Given the description of an element on the screen output the (x, y) to click on. 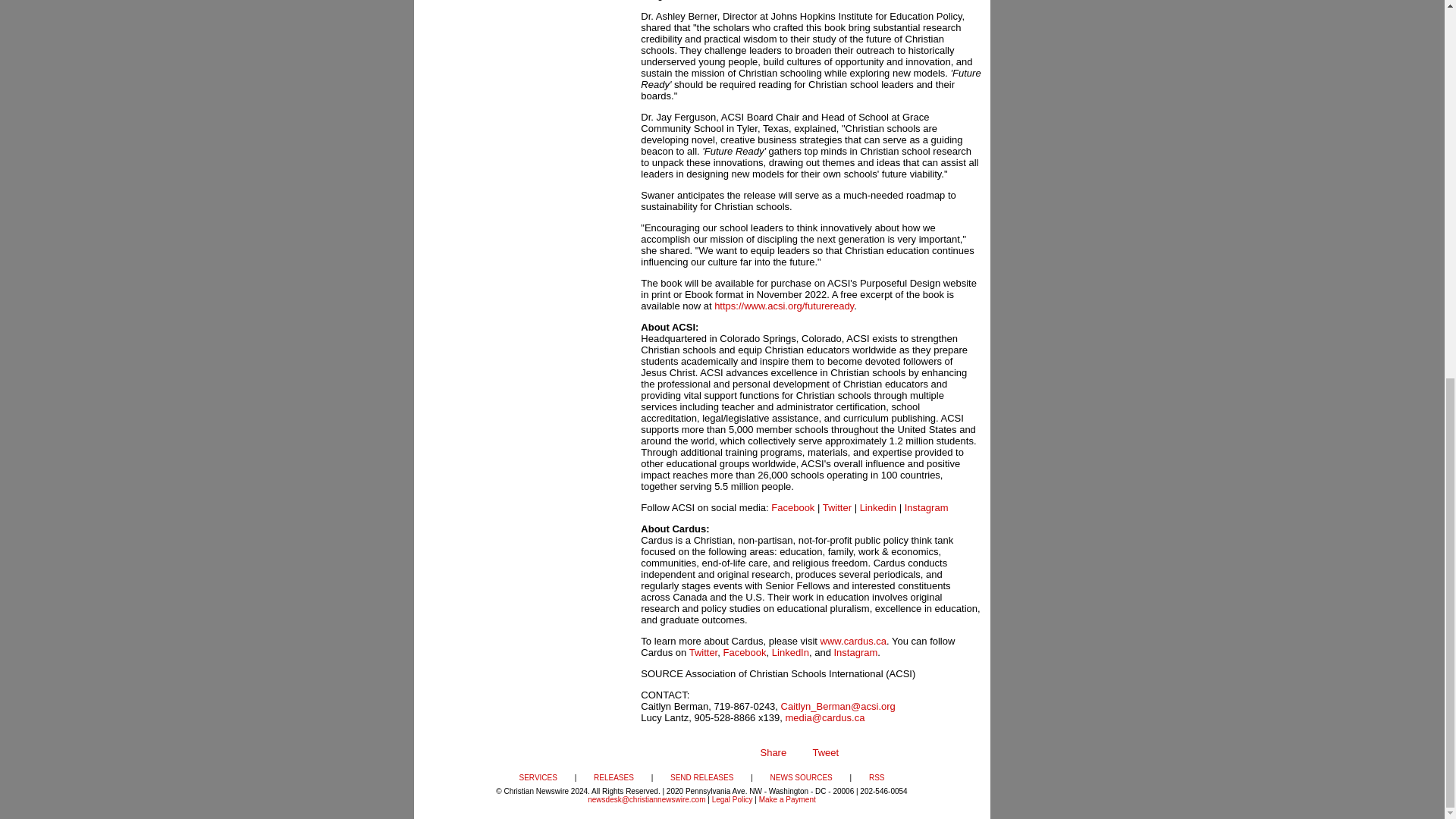
SEND RELEASES (701, 777)
RELEASES (613, 777)
LinkedIn (790, 652)
Facebook (743, 652)
Share (773, 752)
www.cardus.ca (853, 641)
Legal Policy (731, 799)
NEWS SOURCES (801, 777)
RSS (877, 777)
Twitter (702, 652)
Twitter (836, 507)
Linkedin (878, 507)
Tweet (825, 752)
Make a Payment (786, 799)
Facebook (792, 507)
